Given the description of an element on the screen output the (x, y) to click on. 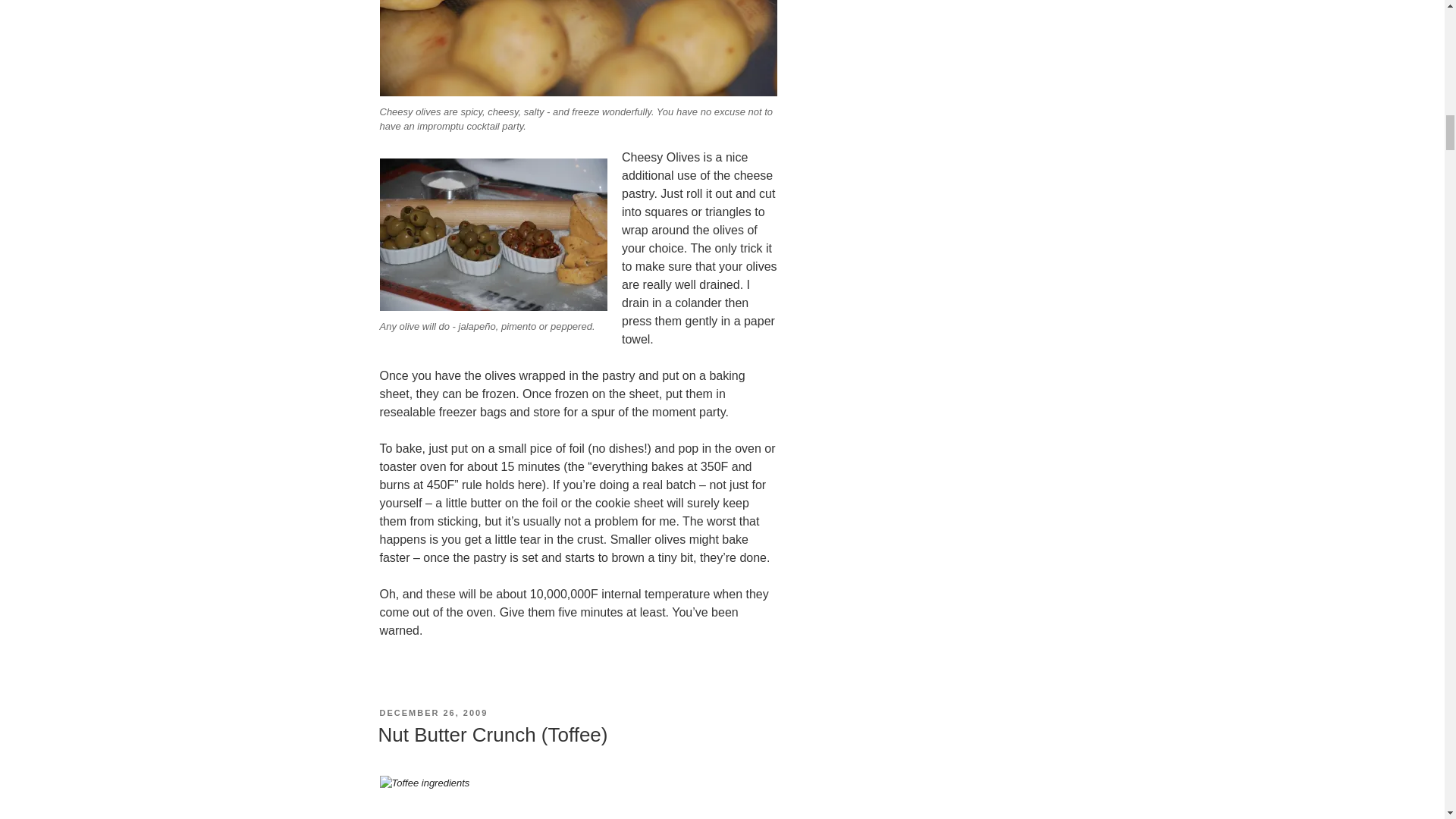
Toffee fixin's (577, 797)
DECEMBER 26, 2009 (432, 712)
Cheesey olives (577, 48)
Any olive will do (492, 234)
